Given the description of an element on the screen output the (x, y) to click on. 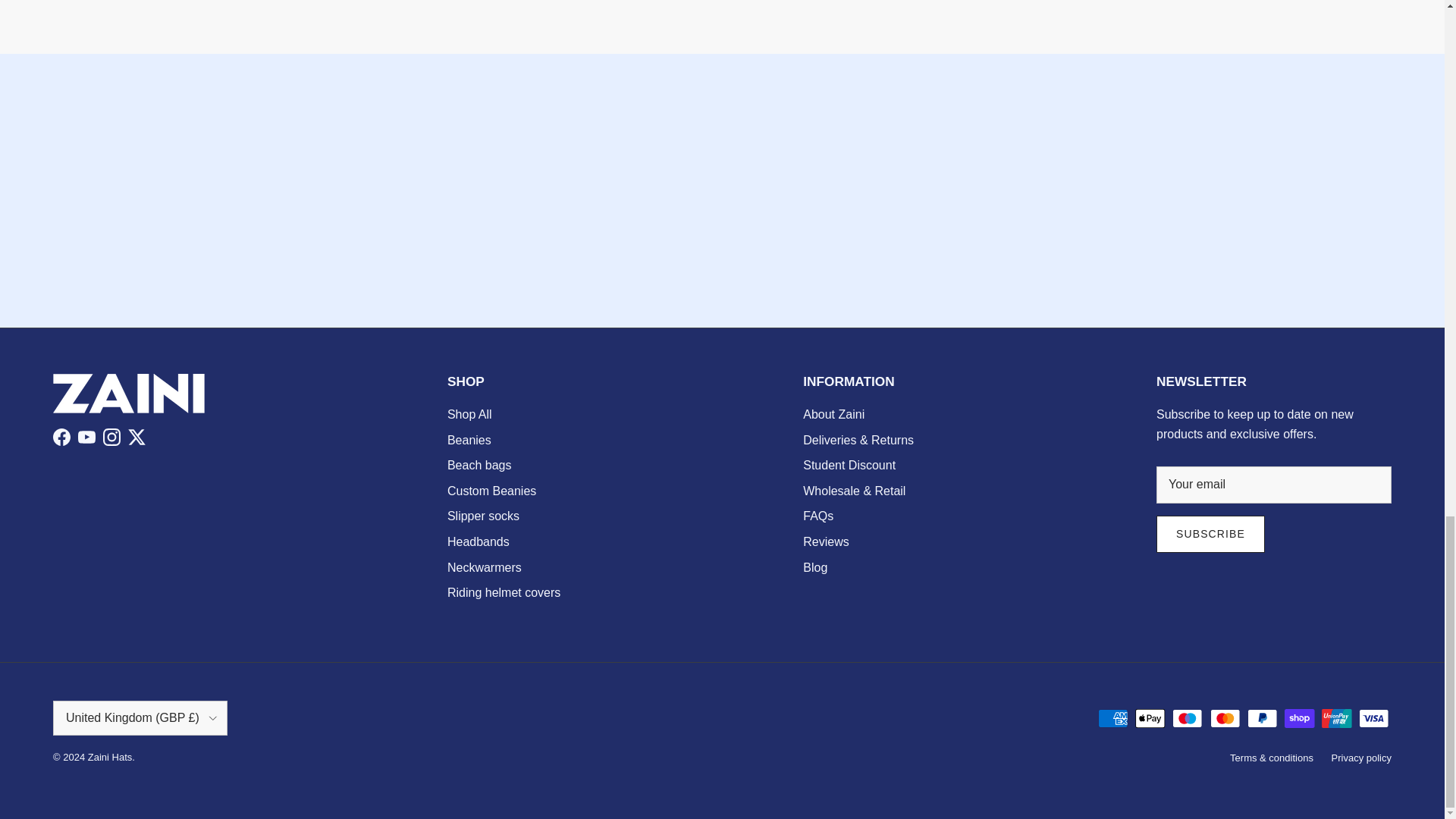
Zaini Hats on Instagram (111, 436)
Zaini Hats on Twitter (136, 436)
Zaini Hats on Facebook (60, 436)
Zaini Hats on YouTube (87, 436)
